Given the description of an element on the screen output the (x, y) to click on. 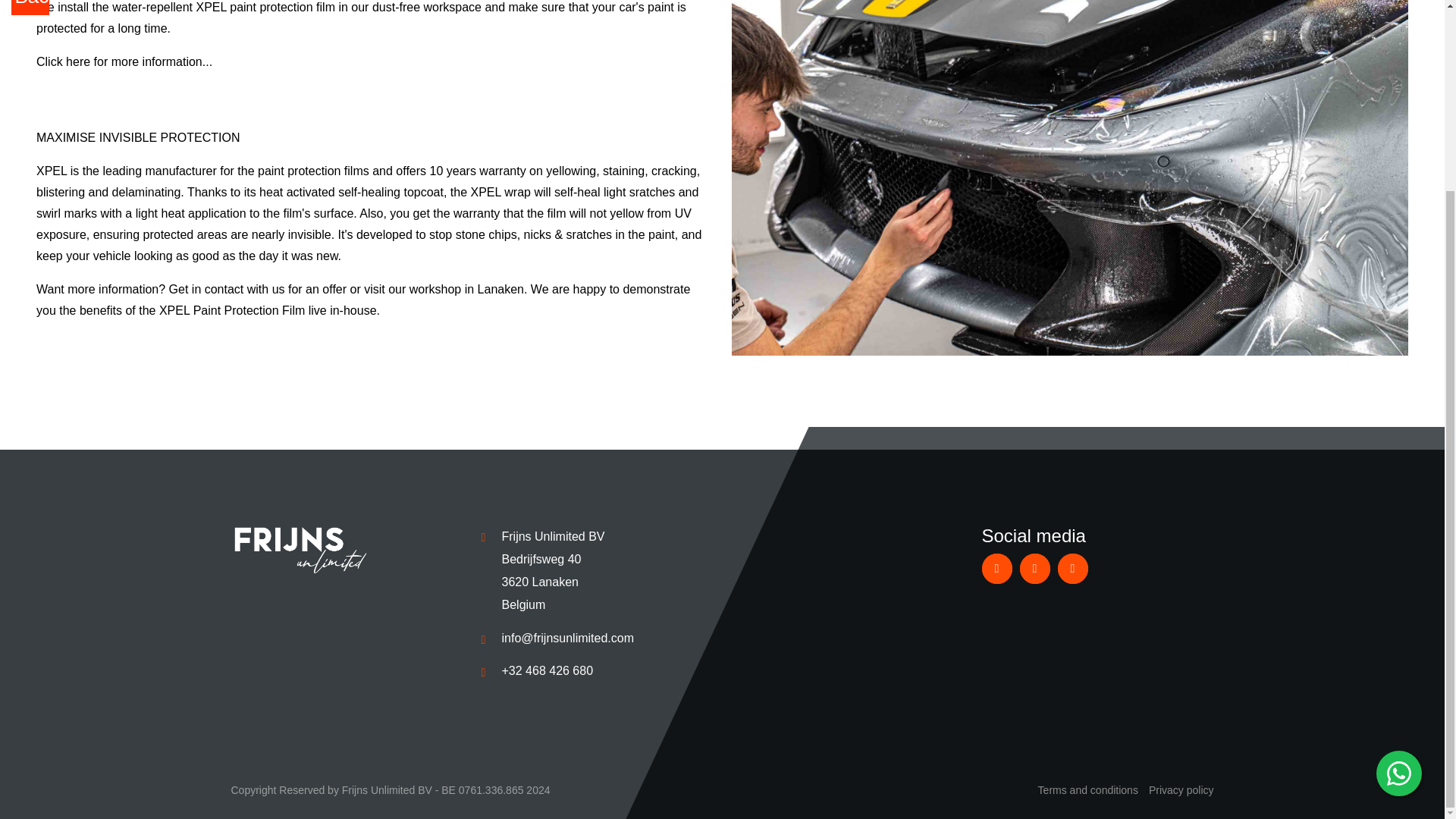
Terms and conditions (1088, 789)
Privacy policy (1181, 789)
